Given the description of an element on the screen output the (x, y) to click on. 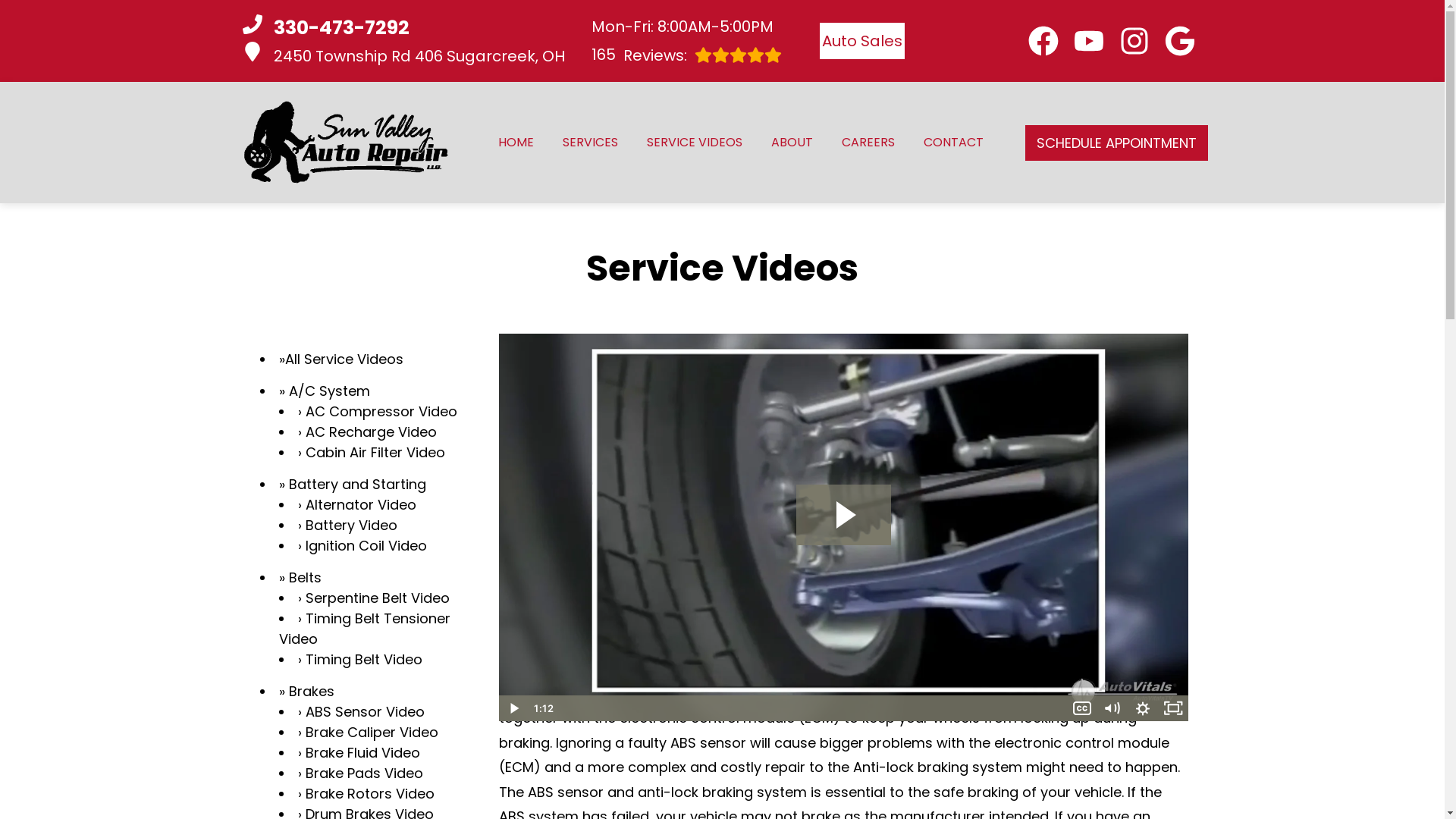
Youtube Channel URL (1088, 40)
Sun Valley Auto Repair (343, 142)
Services (589, 142)
330-473-7292 (403, 27)
Our Reviews (686, 54)
Auto Sales (403, 54)
HOME (686, 54)
SERVICES (861, 40)
Google My Business URL (515, 142)
Facebook URL (589, 142)
Home (1179, 40)
Call Sun Valley Auto Repair (1042, 40)
Auto Sales (515, 142)
